Given the description of an element on the screen output the (x, y) to click on. 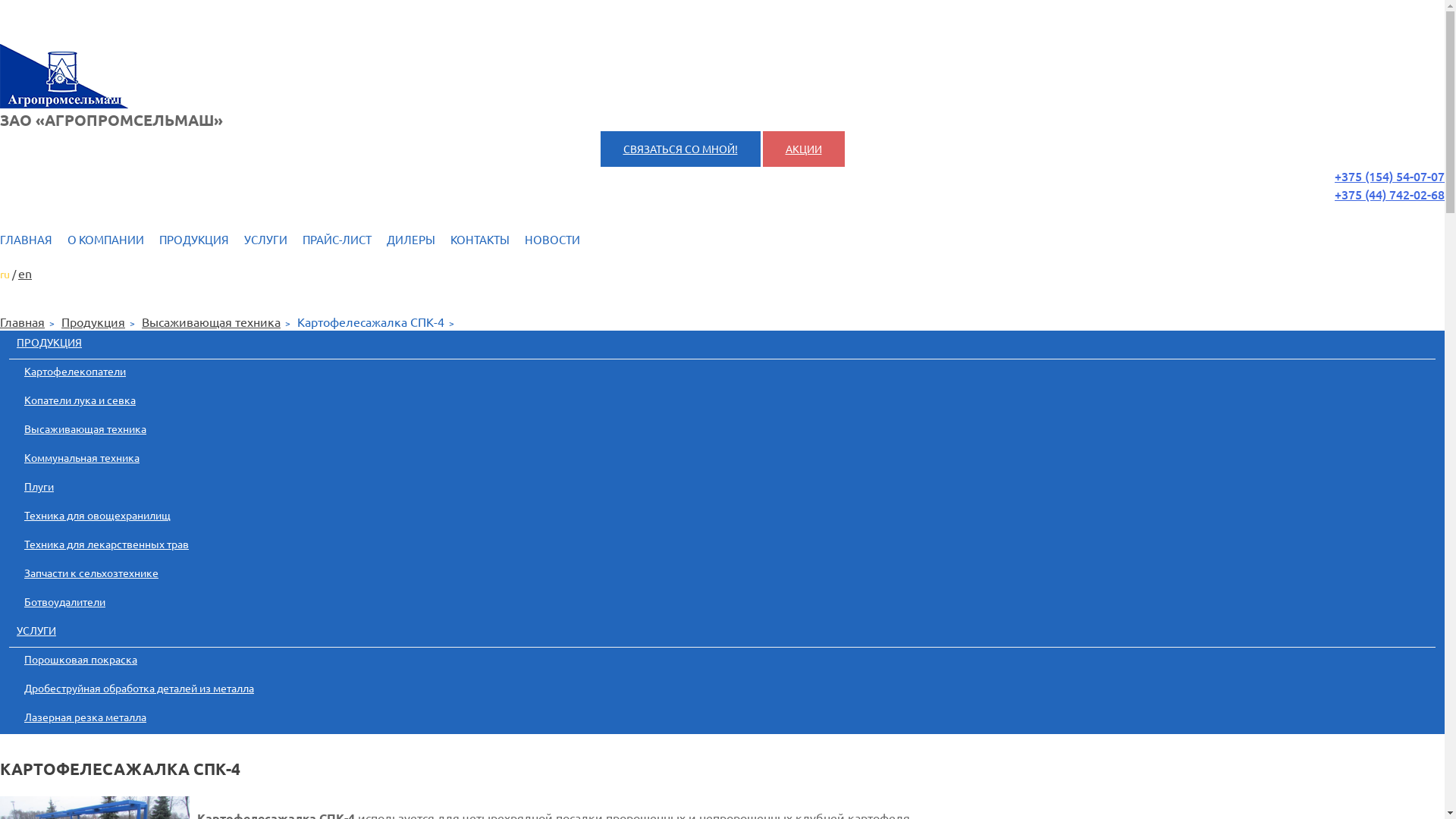
en Element type: text (24, 272)
+375 (44) 742-02-68 Element type: text (1389, 193)
+375 (154) 54-07-07 Element type: text (1389, 175)
